Given the description of an element on the screen output the (x, y) to click on. 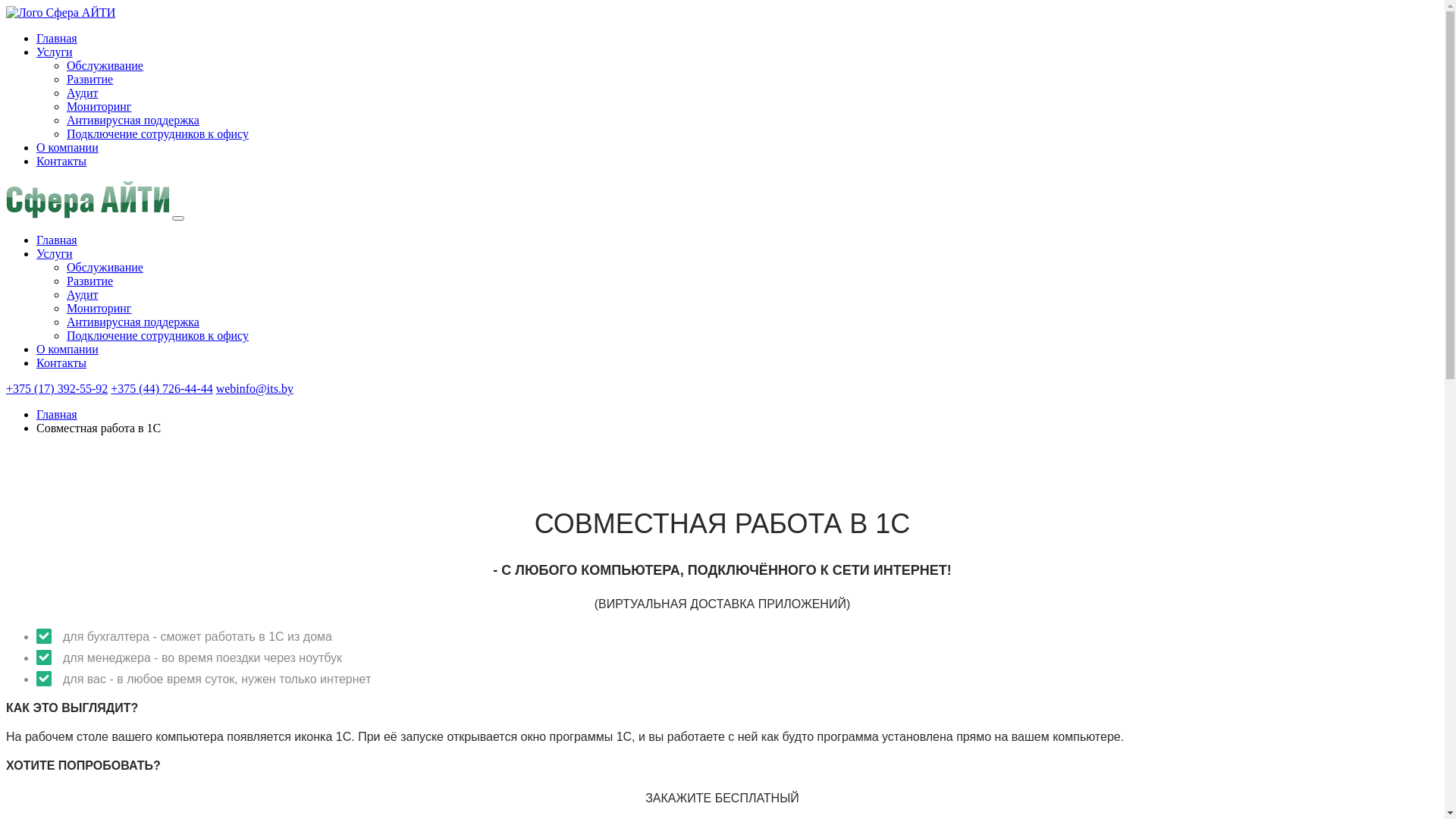
+375 (17) 392-55-92 Element type: text (56, 388)
webinfo@its.by Element type: text (254, 388)
+375 (44) 726-44-44 Element type: text (161, 388)
